Given the description of an element on the screen output the (x, y) to click on. 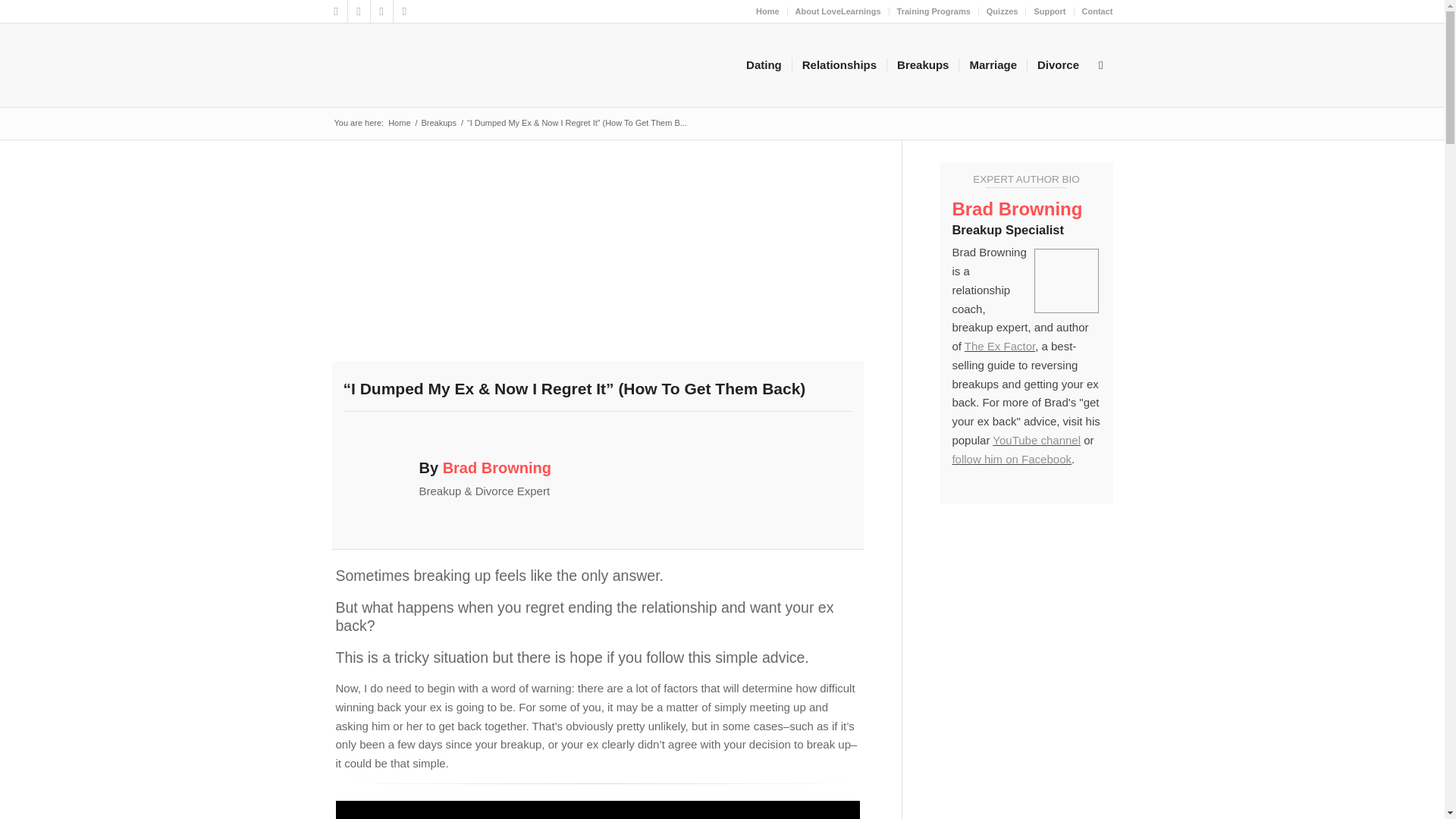
About LoveLearnings (837, 11)
Relationships (839, 65)
Contact (1097, 11)
Quizzes (1002, 11)
Training Programs (933, 11)
Mail (403, 11)
Home (766, 11)
Youtube (380, 11)
Support (1049, 11)
LoveLearnings (398, 122)
Facebook (358, 11)
X (335, 11)
